Given the description of an element on the screen output the (x, y) to click on. 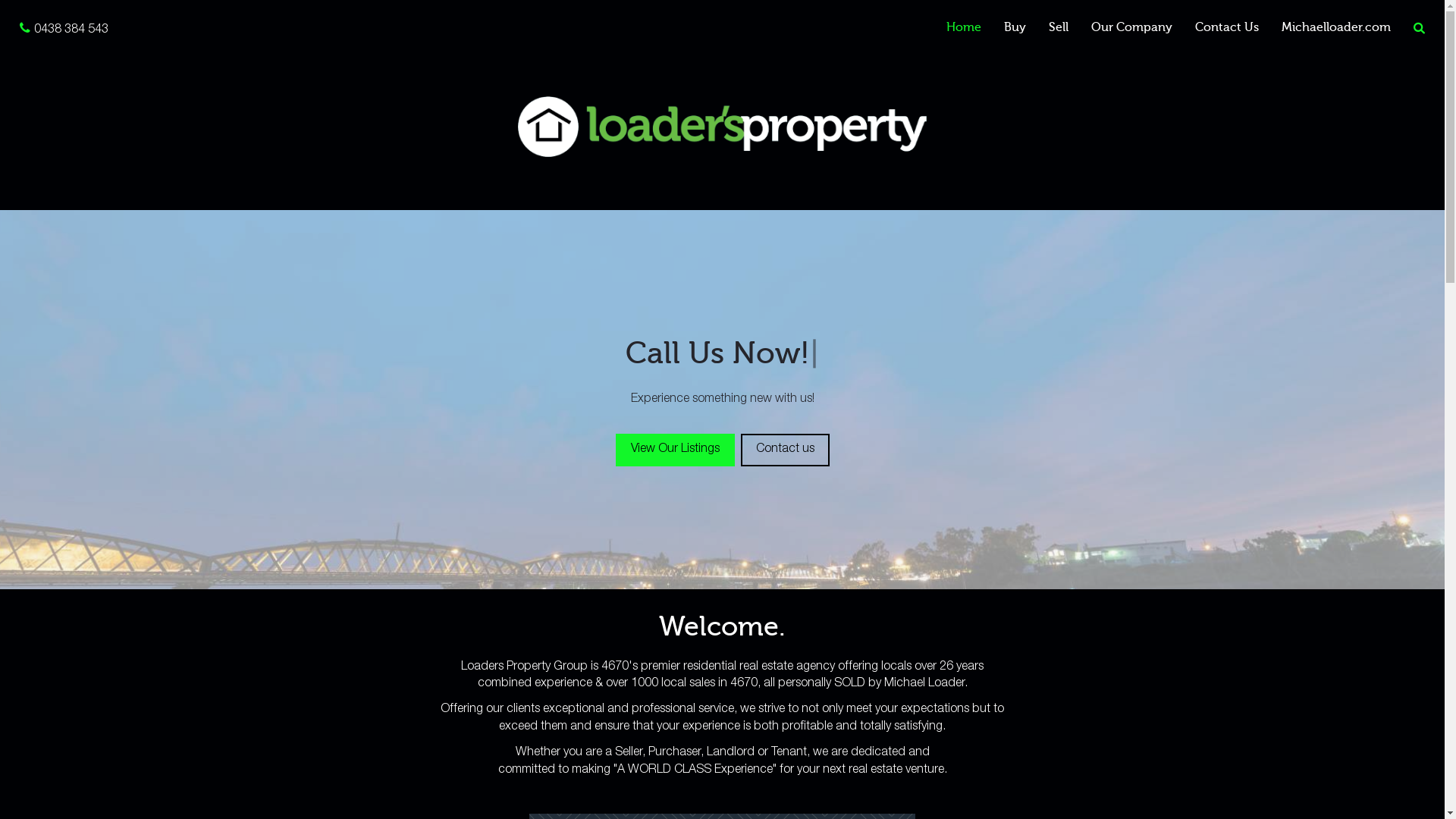
Buy Element type: text (1014, 27)
Quick property search Element type: hover (1419, 28)
Loaders Property Group Element type: hover (721, 127)
Our Company Element type: text (1131, 27)
Sell Element type: text (1058, 27)
Michaelloader.com Element type: text (1336, 27)
Home Element type: text (963, 27)
Contact us Element type: text (784, 449)
View Our Listings Element type: text (674, 449)
Contact Us Element type: text (1226, 27)
